Given the description of an element on the screen output the (x, y) to click on. 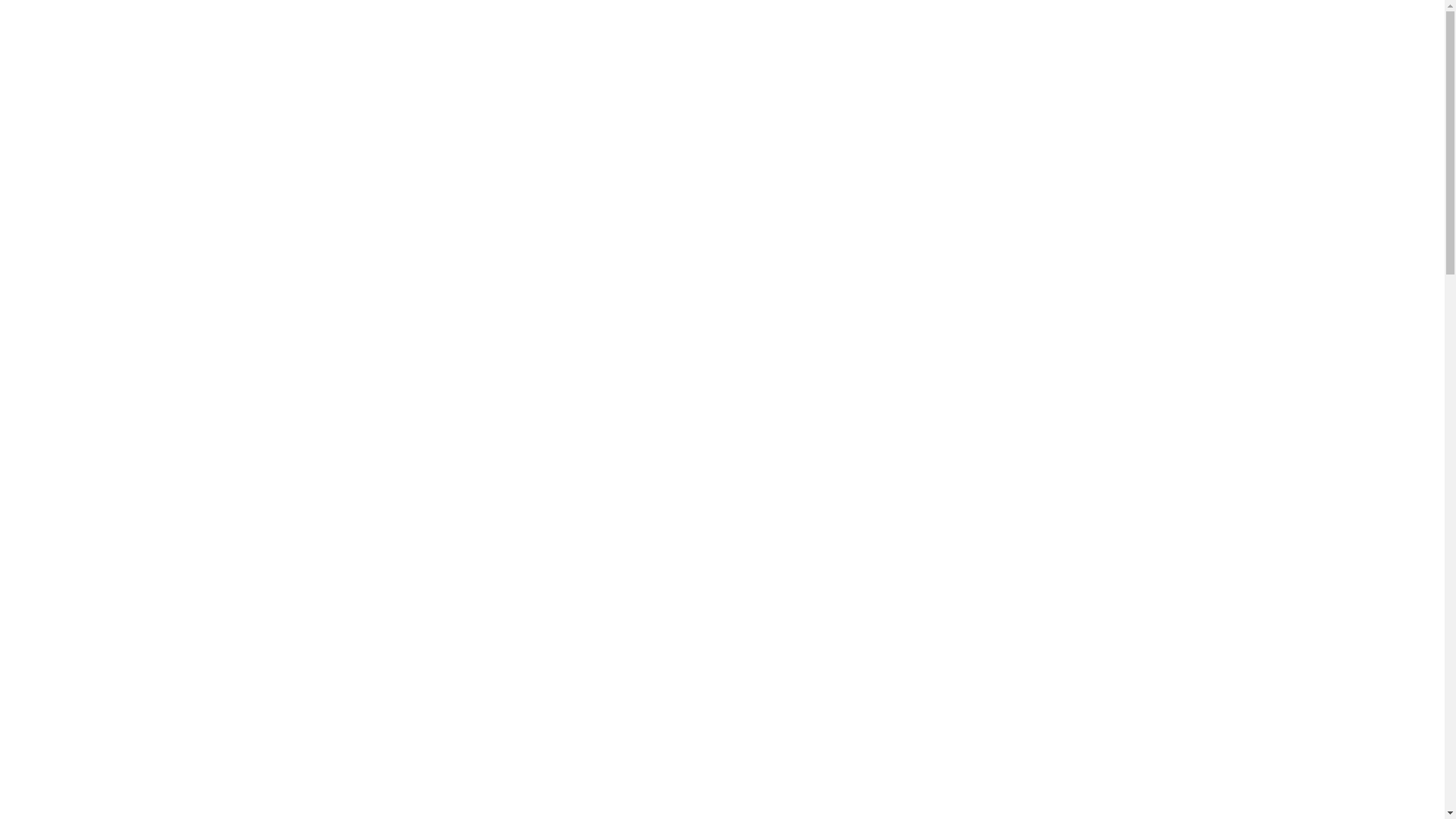
ICM_Logo_CMYK Element type: hover (349, 44)
Building Innovation Element type: text (1096, 44)
Careers Element type: text (883, 54)
News Element type: text (813, 54)
Projects Element type: text (739, 54)
About Us Element type: text (655, 54)
LEARN MORE ABOUT US Element type: text (375, 250)
Contact Element type: text (963, 54)
